Given the description of an element on the screen output the (x, y) to click on. 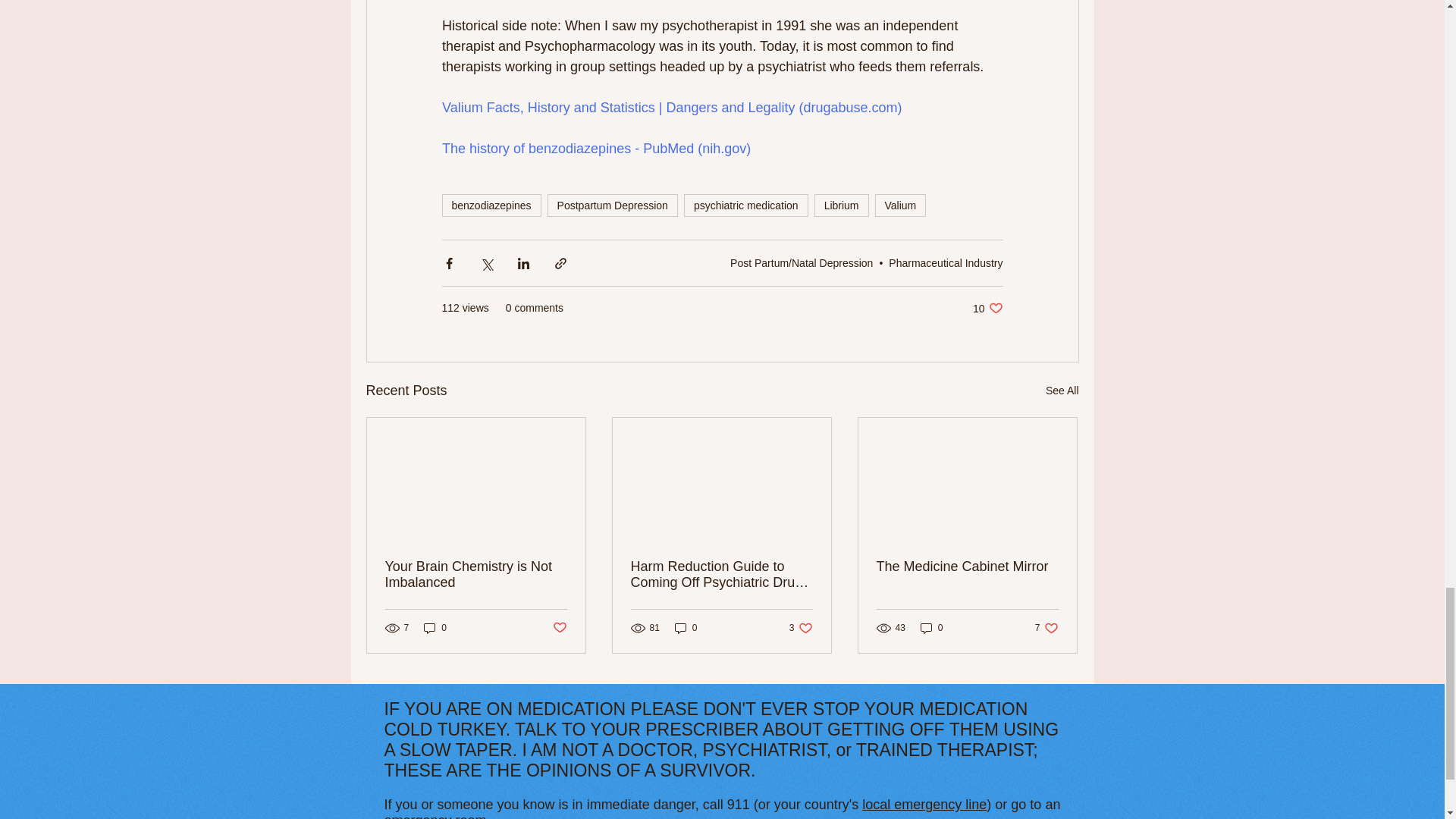
Your Brain Chemistry is Not Imbalanced (476, 574)
Postpartum Depression (612, 205)
0 (435, 627)
Valium (900, 205)
Librium (841, 205)
benzodiazepines (490, 205)
psychiatric medication (746, 205)
Pharmaceutical Industry (945, 263)
Post not marked as liked (987, 308)
See All (558, 627)
